Given the description of an element on the screen output the (x, y) to click on. 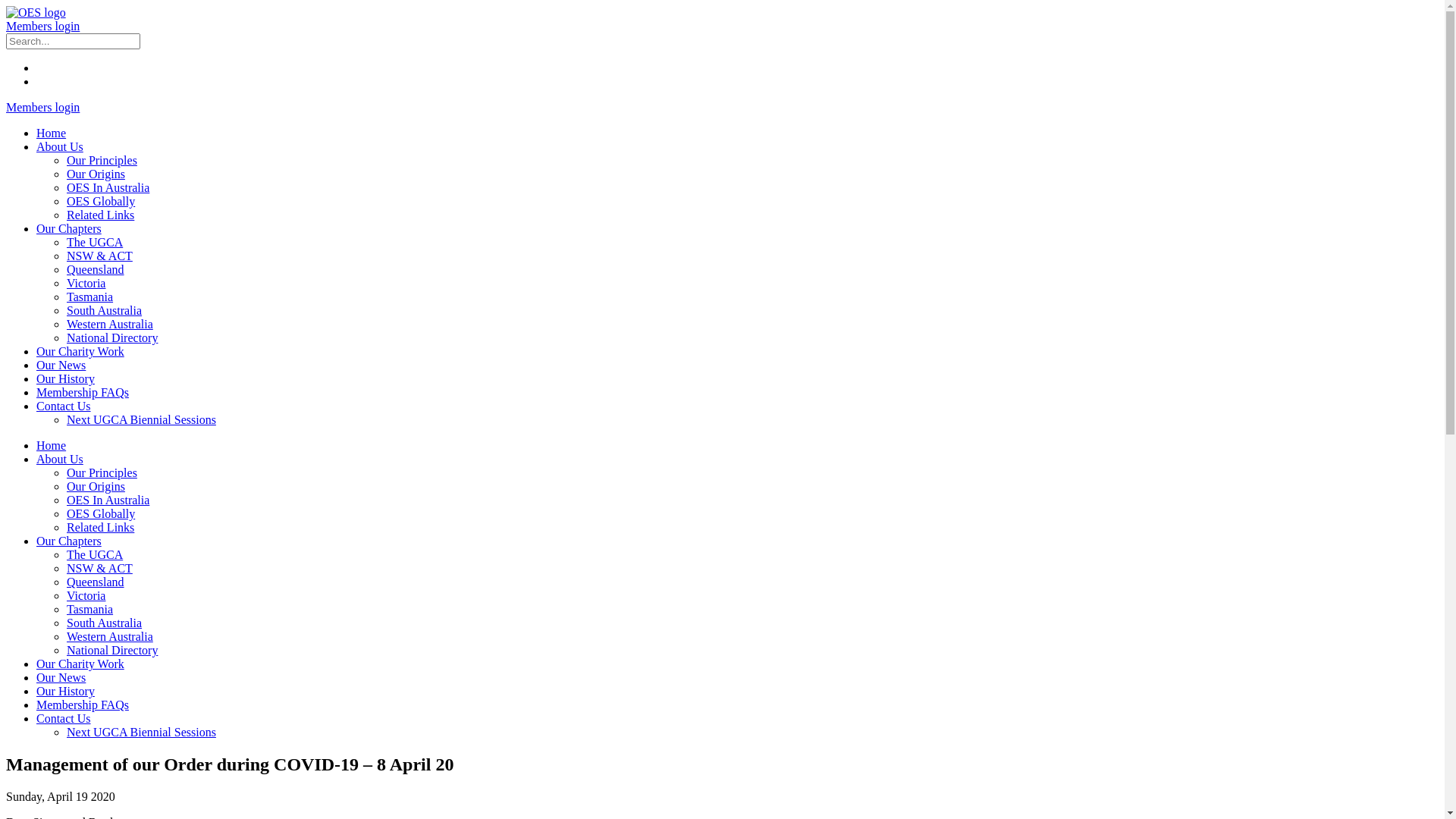
About Us Element type: text (59, 146)
Our History Element type: text (65, 690)
Next UGCA Biennial Sessions Element type: text (141, 419)
Membership FAQs Element type: text (82, 704)
Members login Element type: text (42, 106)
About Us Element type: text (59, 458)
Queensland Element type: text (95, 581)
Tasmania Element type: text (89, 608)
NSW & ACT Element type: text (99, 255)
NSW & ACT Element type: text (99, 567)
South Australia Element type: text (103, 310)
National Directory Element type: text (111, 649)
South Australia Element type: text (103, 622)
Our Charity Work Element type: text (80, 663)
Our Charity Work Element type: text (80, 351)
Our Chapters Element type: text (68, 228)
OES Globally Element type: text (100, 513)
Tasmania Element type: text (89, 296)
Home Element type: text (50, 445)
Contact Us Element type: text (63, 405)
Western Australia Element type: text (109, 323)
Western Australia Element type: text (109, 636)
Members login Element type: text (42, 25)
Our Chapters Element type: text (68, 540)
Home Element type: text (50, 132)
OES In Australia Element type: text (107, 499)
Our Principles Element type: text (101, 472)
Next UGCA Biennial Sessions Element type: text (141, 731)
Our Origins Element type: text (95, 173)
Our Origins Element type: text (95, 486)
Queensland Element type: text (95, 269)
Our History Element type: text (65, 378)
Membership FAQs Element type: text (82, 391)
Contact Us Element type: text (63, 718)
National Directory Element type: text (111, 337)
Victoria Element type: text (85, 595)
Our News Element type: text (60, 364)
The UGCA Element type: text (94, 554)
Related Links Element type: text (100, 526)
OES In Australia Element type: text (107, 187)
OES Globally Element type: text (100, 200)
Our Principles Element type: text (101, 159)
The UGCA Element type: text (94, 241)
Related Links Element type: text (100, 214)
Victoria Element type: text (85, 282)
Our News Element type: text (60, 677)
